Given the description of an element on the screen output the (x, y) to click on. 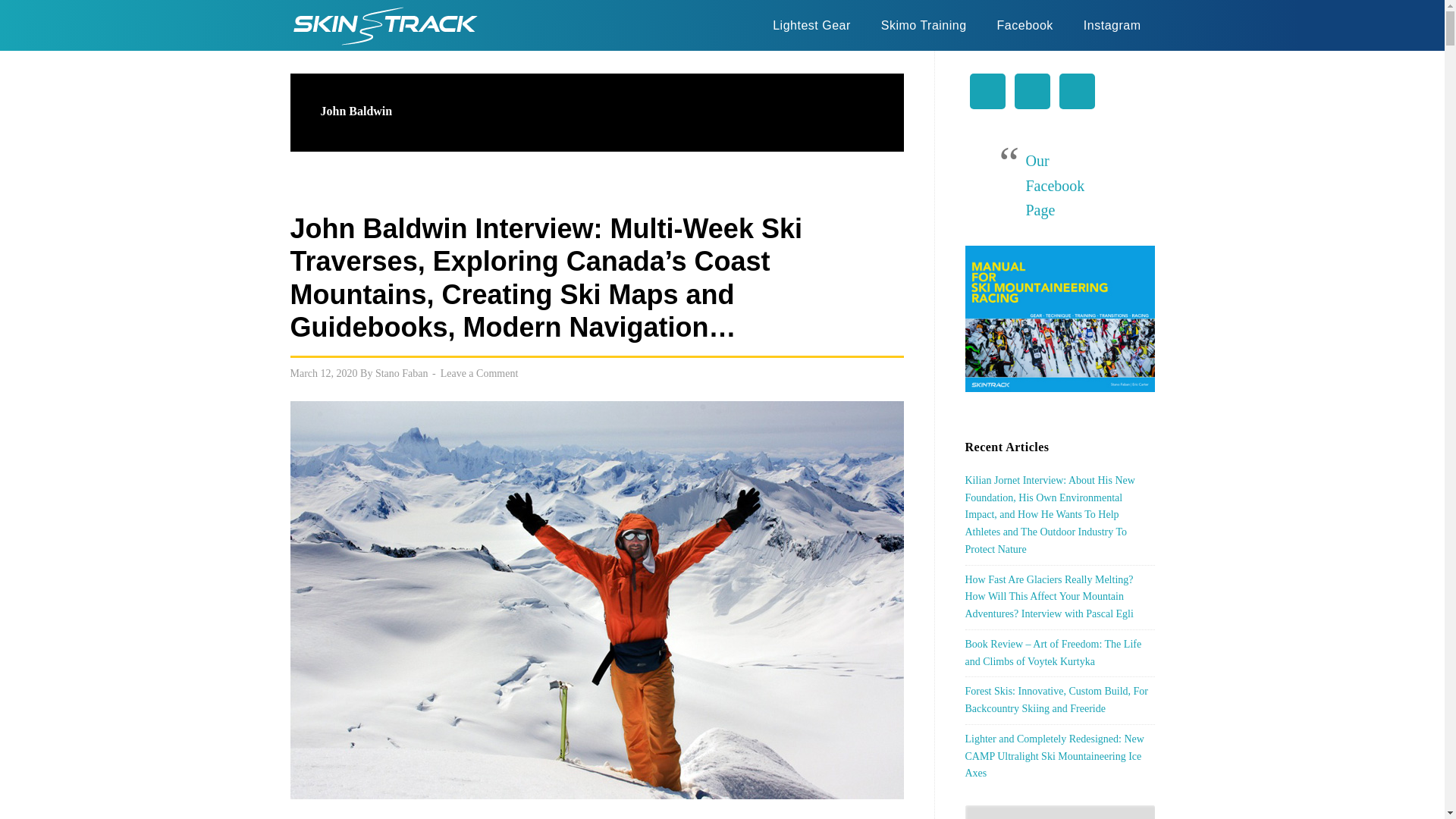
Leave a Comment (479, 373)
SKINTRACK (384, 24)
Skimo Training (923, 25)
Facebook (1025, 25)
Instagram (1112, 25)
Stano Faban (401, 373)
Lightest Gear (811, 25)
